Given the description of an element on the screen output the (x, y) to click on. 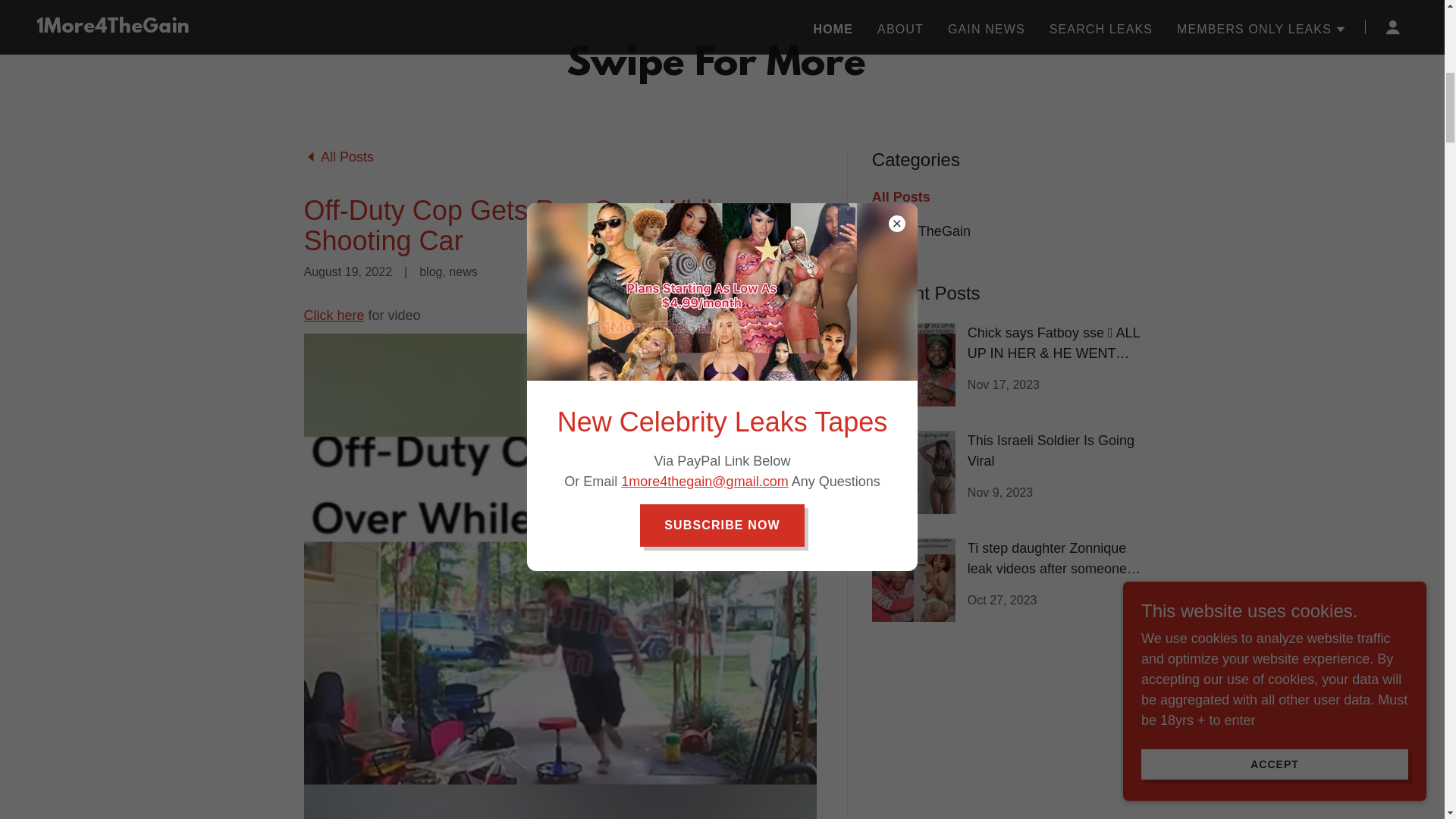
HOME Element type: text (833, 752)
1More4TheGain Element type: text (112, 750)
SEARCH LEAKS Element type: text (1100, 751)
SUBSCRIBE TO NEW MEMBERS ONLY PAGE Element type: text (721, 434)
GAIN NEWS Element type: text (986, 751)
MEMBERS ONLY LEAKS Element type: text (1261, 752)
ABOUT Element type: text (900, 751)
